Given the description of an element on the screen output the (x, y) to click on. 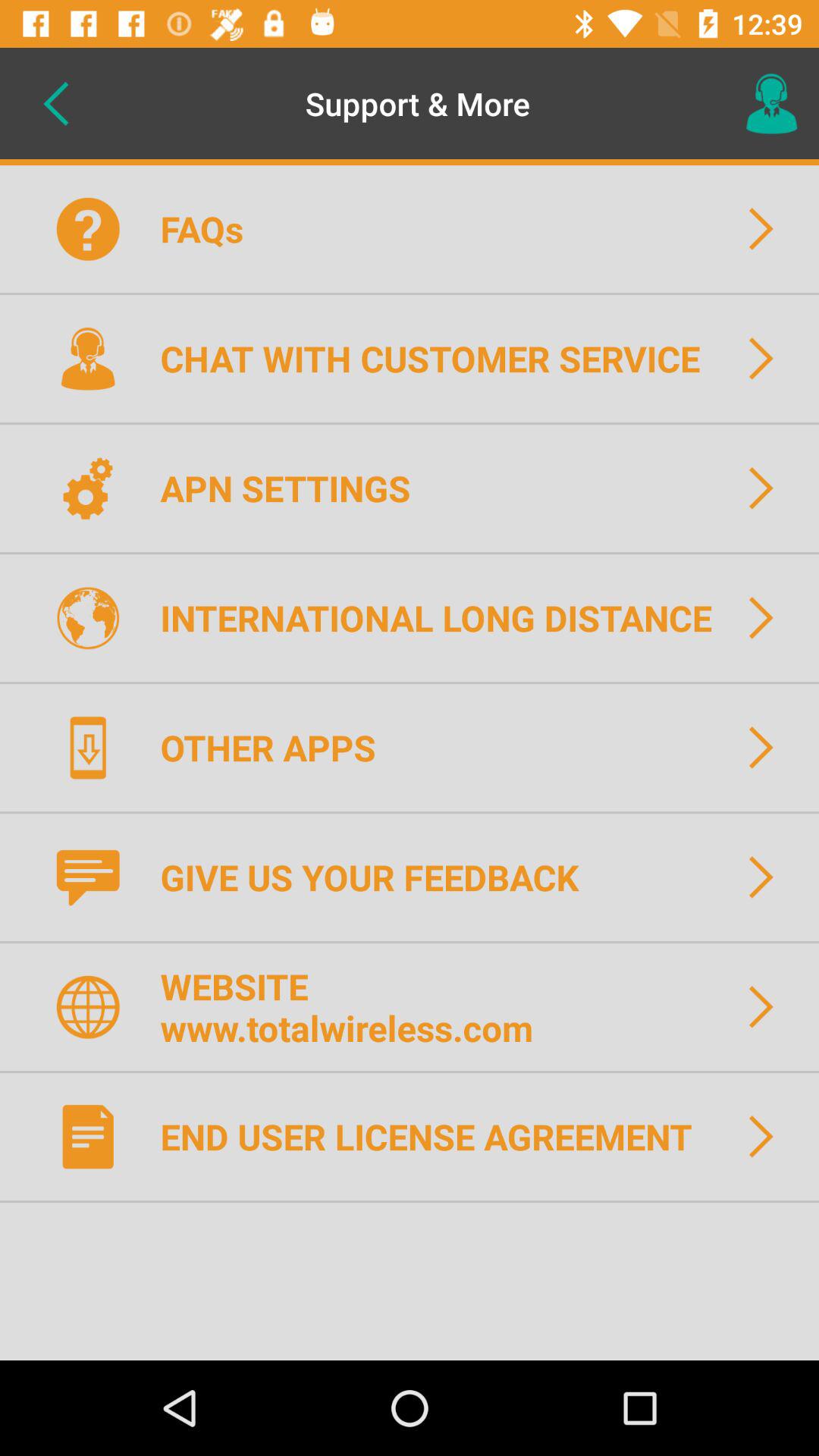
scroll to international long distance item (445, 617)
